Given the description of an element on the screen output the (x, y) to click on. 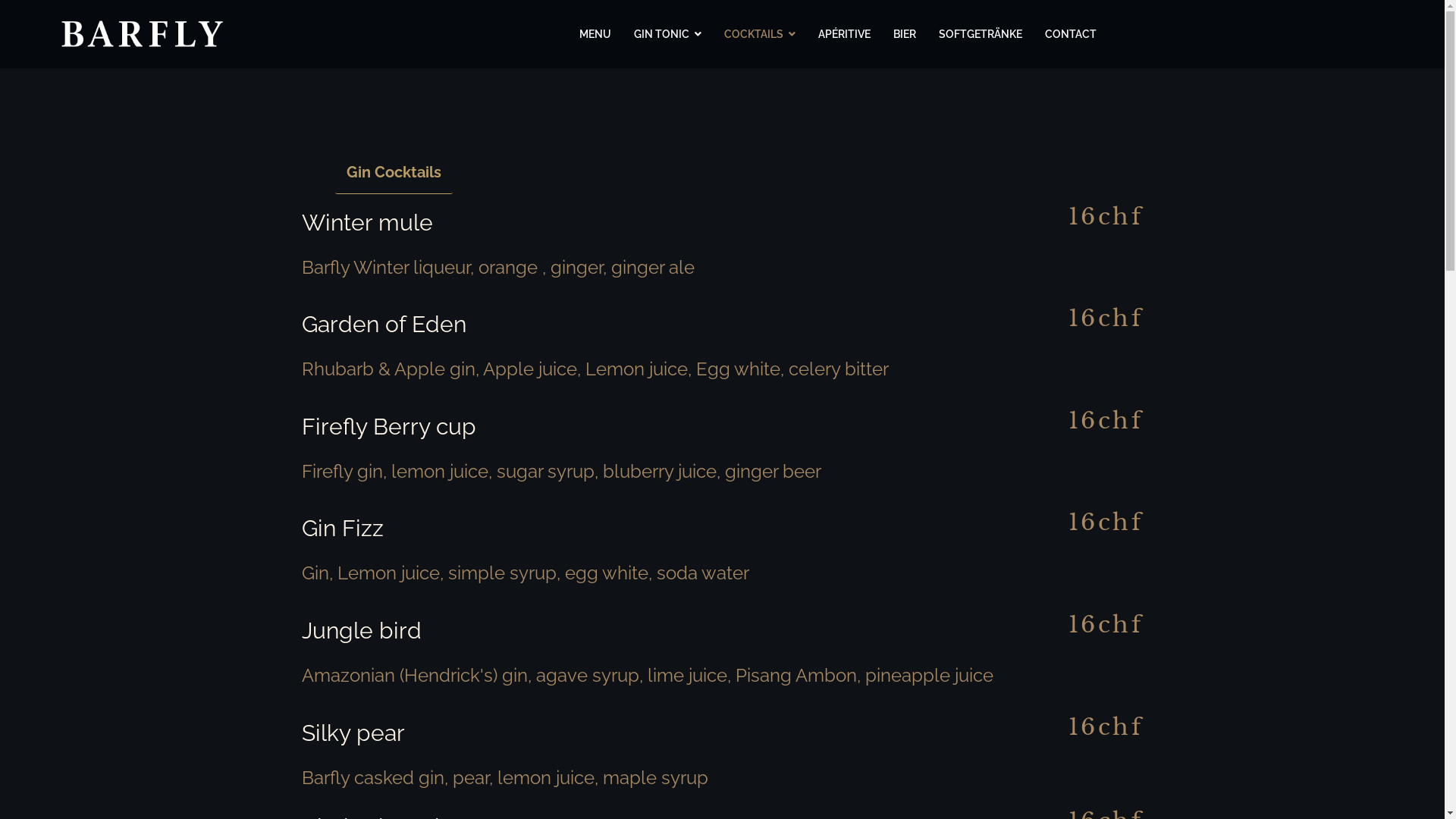
Gin Cocktails Element type: text (393, 172)
COCKTAILS Element type: text (759, 34)
BIER Element type: text (904, 34)
MENU Element type: text (594, 34)
GIN TONIC Element type: text (667, 34)
CONTACT Element type: text (1070, 34)
